Given the description of an element on the screen output the (x, y) to click on. 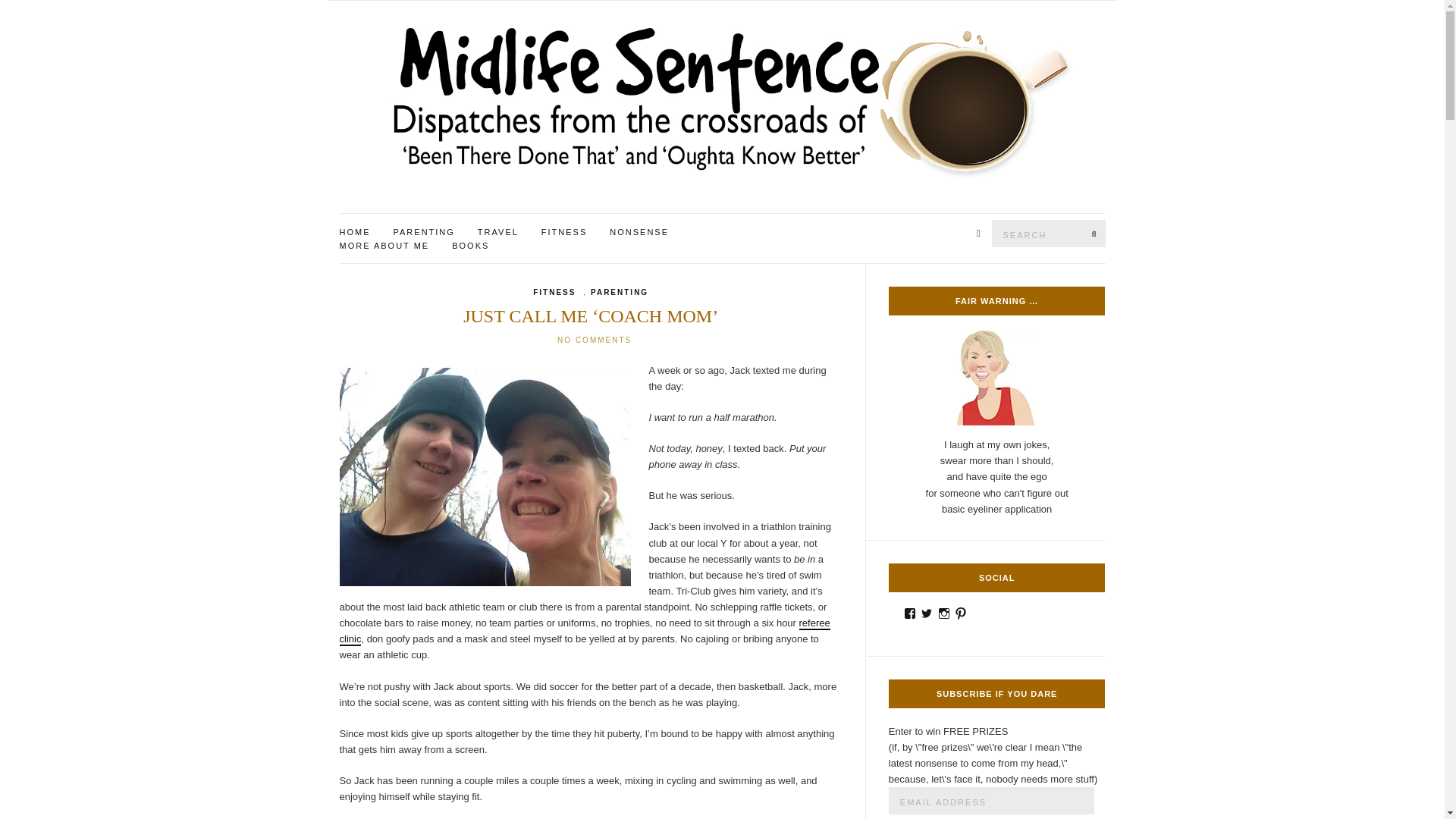
NO COMMENTS (594, 339)
FITNESS (553, 292)
HOME (355, 232)
PARENTING (423, 232)
FITNESS (563, 232)
PARENTING (619, 292)
referee clinic (584, 631)
BOOKS (470, 246)
MORE ABOUT ME (384, 246)
NONSENSE (639, 232)
TRAVEL (497, 232)
